Given the description of an element on the screen output the (x, y) to click on. 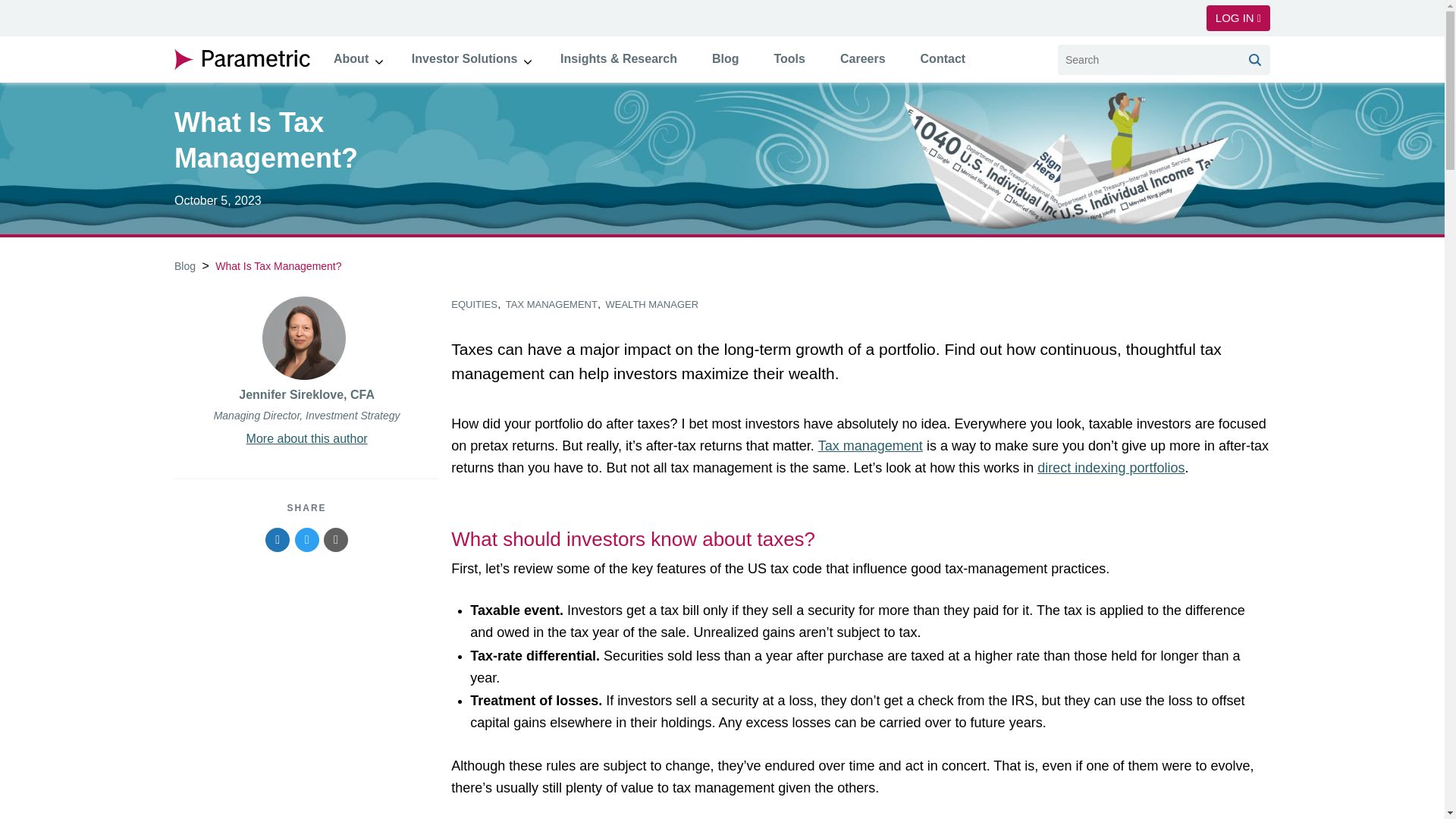
Investor Solutions (465, 58)
Investor Solutions (465, 58)
About (350, 58)
LOG IN (1238, 17)
About (350, 58)
Search (1254, 59)
